Given the description of an element on the screen output the (x, y) to click on. 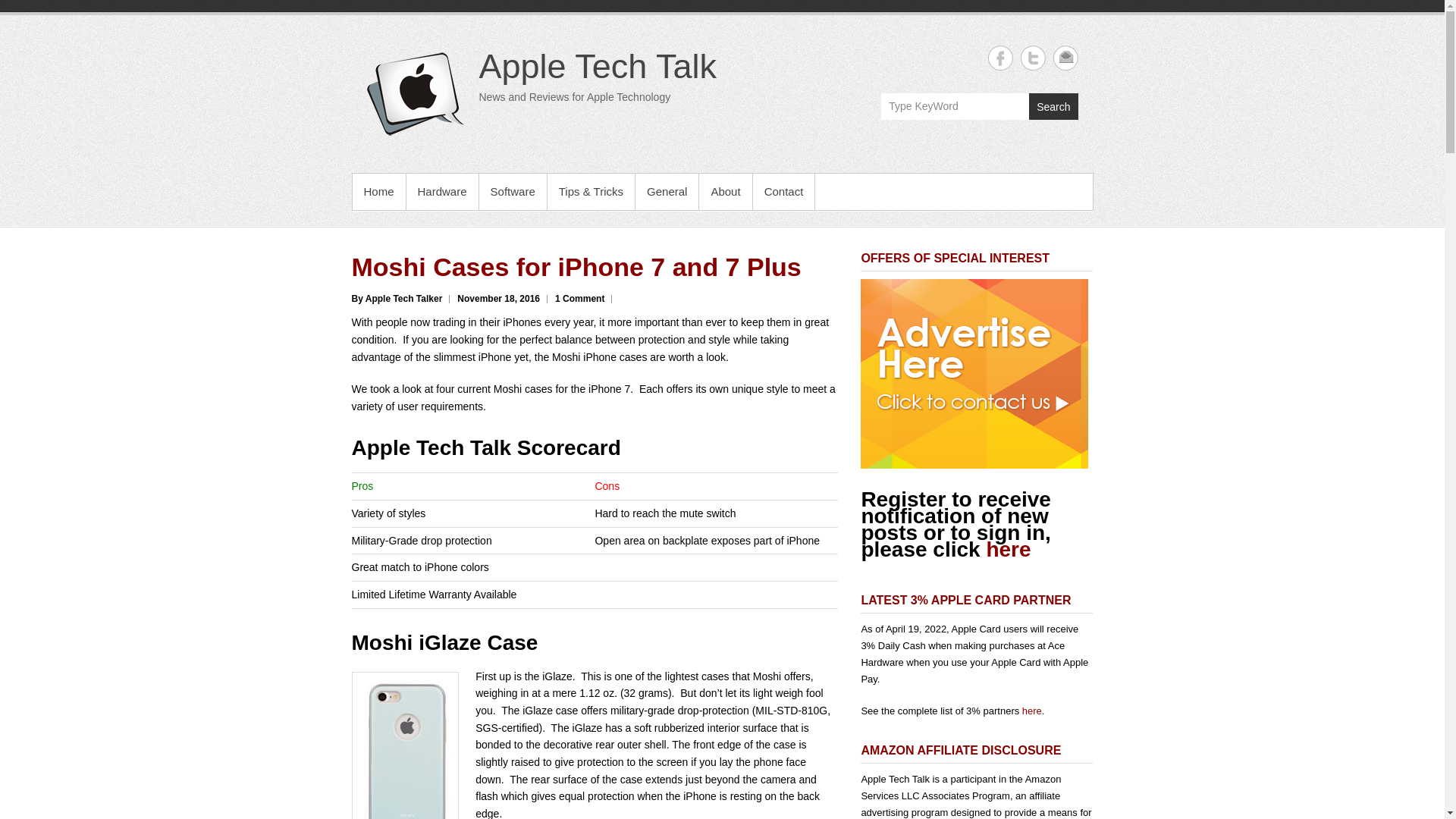
Contact (783, 191)
Apple Tech Talk on Facebook (999, 57)
Apple Tech Talk Twitter (1032, 57)
Search (1053, 106)
General (666, 191)
About (724, 191)
Apple Tech Talk on Twitter (1032, 57)
Type KeyWord (955, 105)
Home (378, 191)
Apple Tech Talk (598, 65)
